Given the description of an element on the screen output the (x, y) to click on. 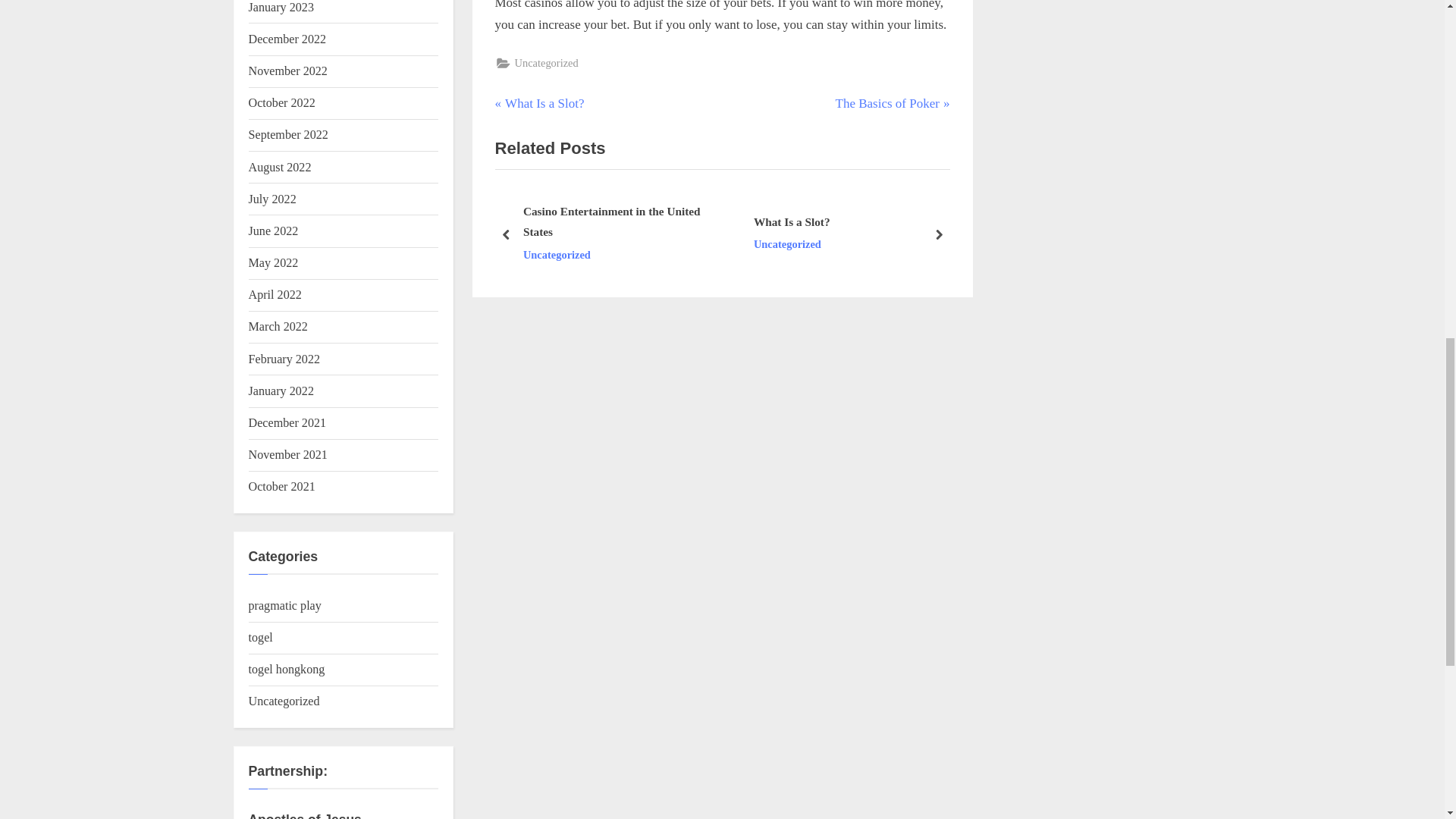
Uncategorized (539, 103)
